Given the description of an element on the screen output the (x, y) to click on. 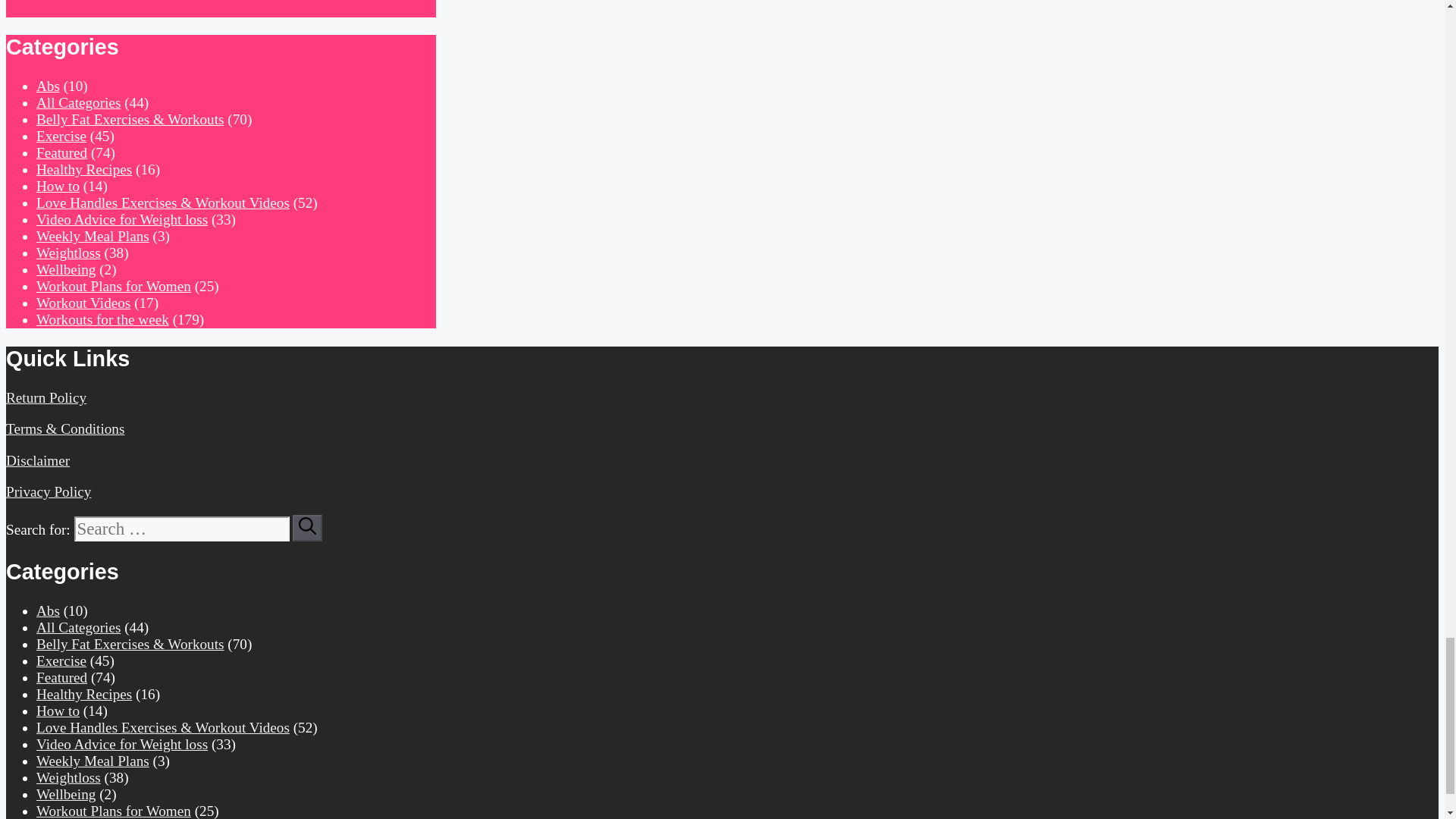
Abs (47, 85)
Weightloss (68, 252)
Healthy Recipes (84, 169)
Search for: (181, 528)
Disclaimer (37, 460)
Workout Plans for Women (113, 286)
All Categories (78, 627)
Abs (47, 610)
Wellbeing (66, 269)
Privacy Policy (47, 491)
Workouts for the week (102, 319)
Exercise (60, 135)
Video Advice for Weight loss (122, 219)
Featured (61, 152)
Weekly Meal Plans (92, 236)
